Given the description of an element on the screen output the (x, y) to click on. 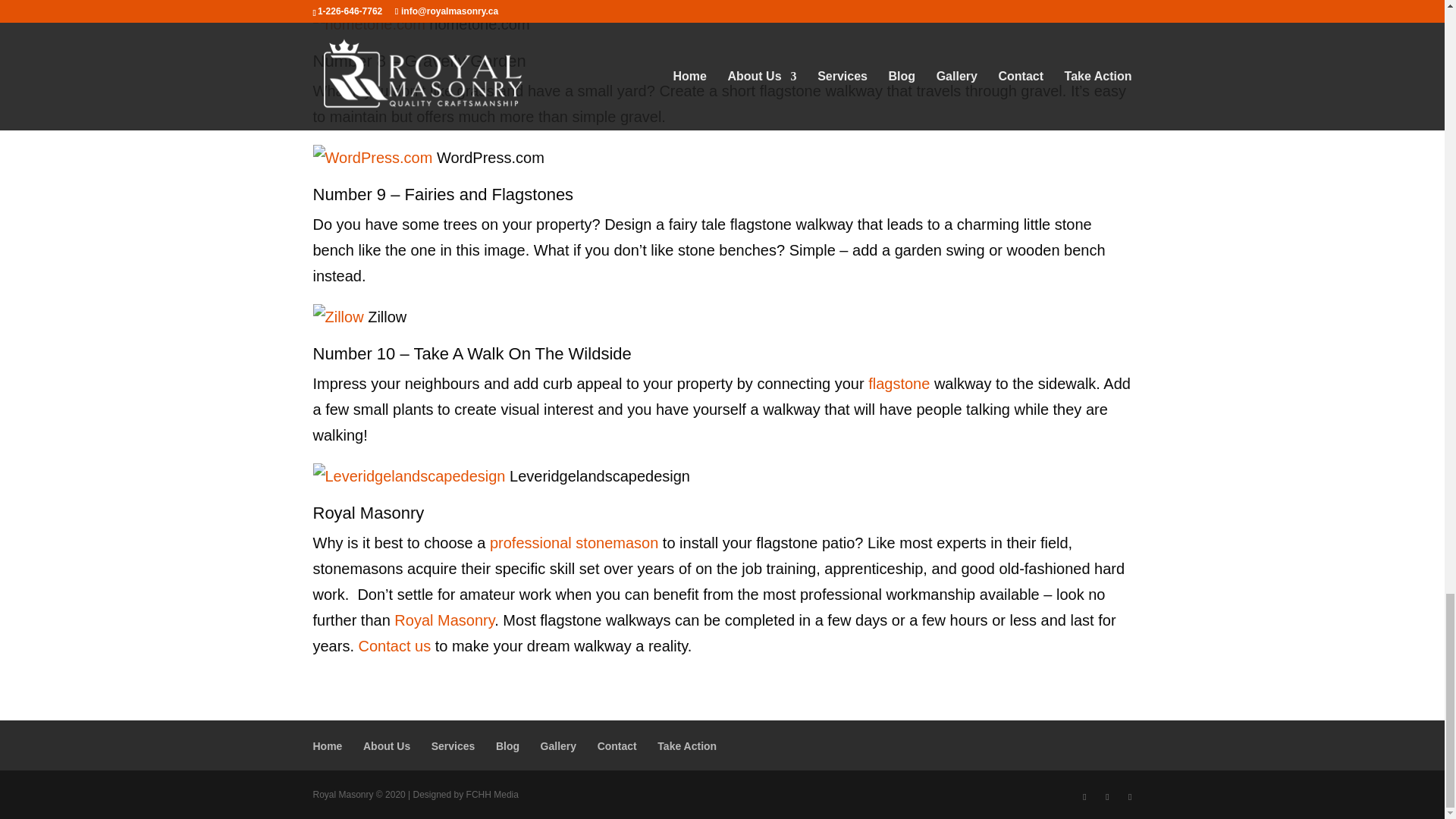
professional stonemason (573, 542)
Blog (507, 746)
Take Action (687, 746)
Contact (616, 746)
About Us (386, 746)
Services (453, 746)
Royal Masonry (444, 619)
Contact us (394, 646)
flagstone (897, 383)
Home (327, 746)
Gallery (558, 746)
